Given the description of an element on the screen output the (x, y) to click on. 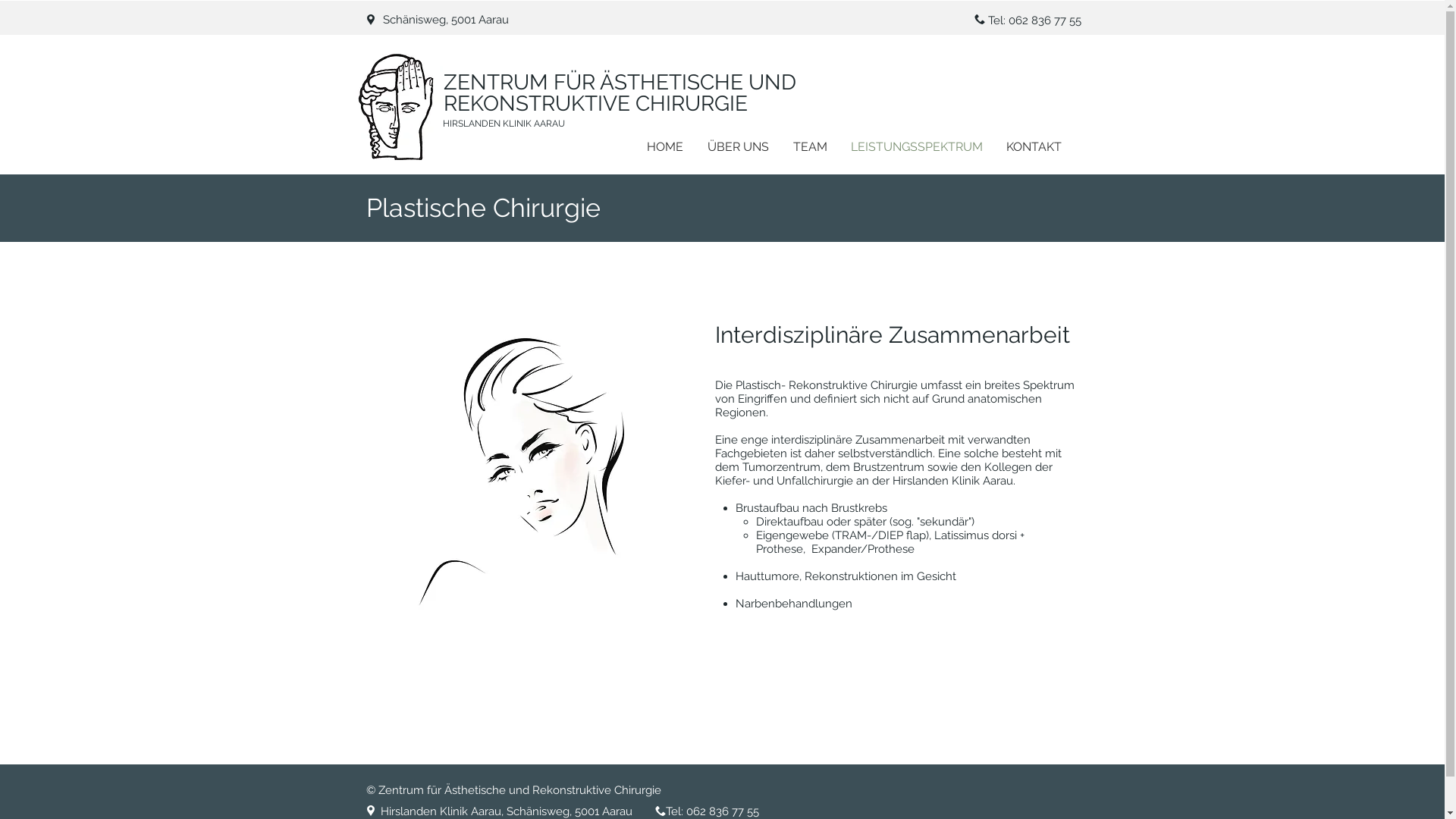
HOME Element type: text (663, 146)
LEISTUNGSSPEKTRUM Element type: text (916, 146)
TEAM Element type: text (810, 146)
KONTAKT Element type: text (1033, 146)
